Given the description of an element on the screen output the (x, y) to click on. 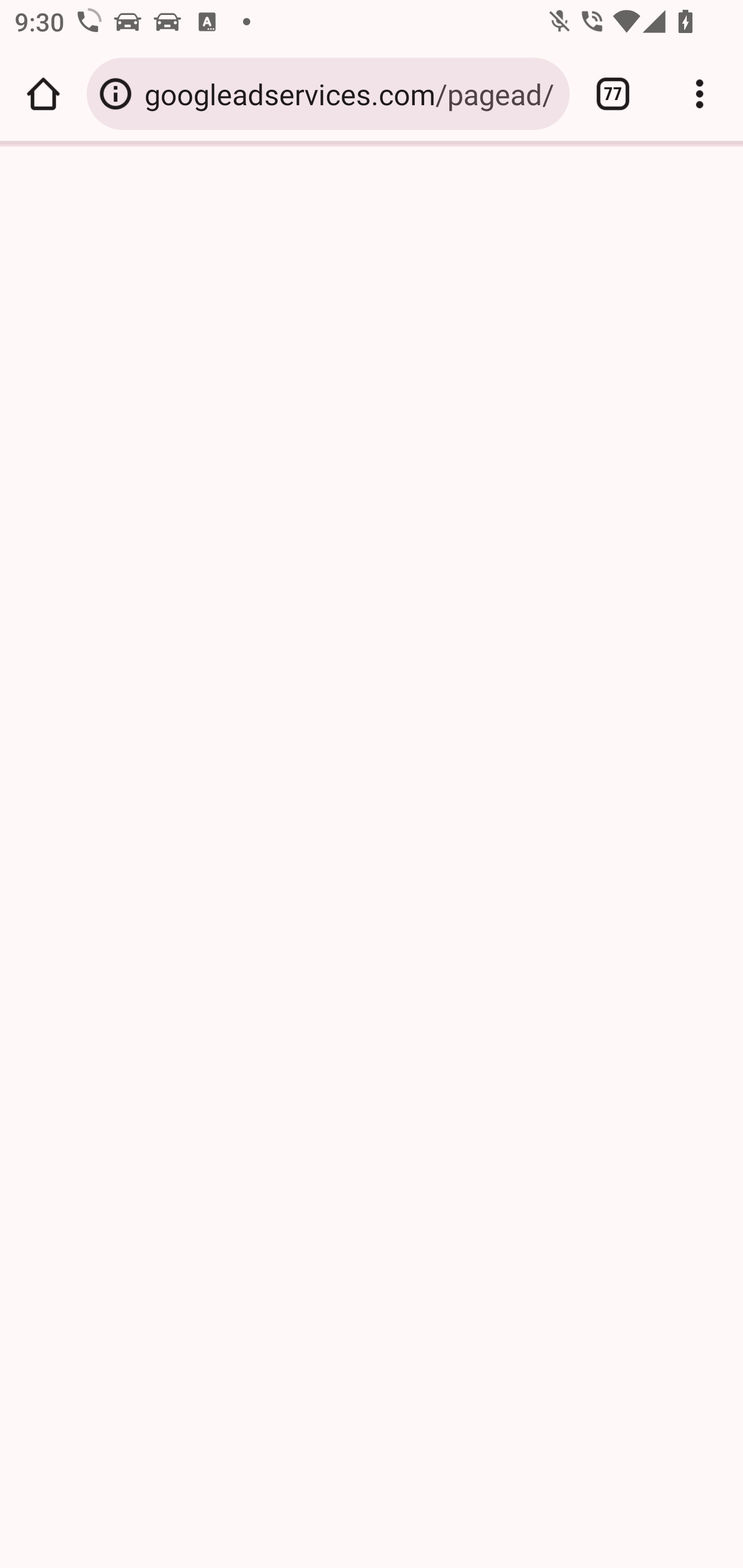
Open the home page (43, 93)
Your connection to this site is not secure (115, 93)
Switch or close tabs (612, 93)
Customize and control Google Chrome (699, 93)
